Given the description of an element on the screen output the (x, y) to click on. 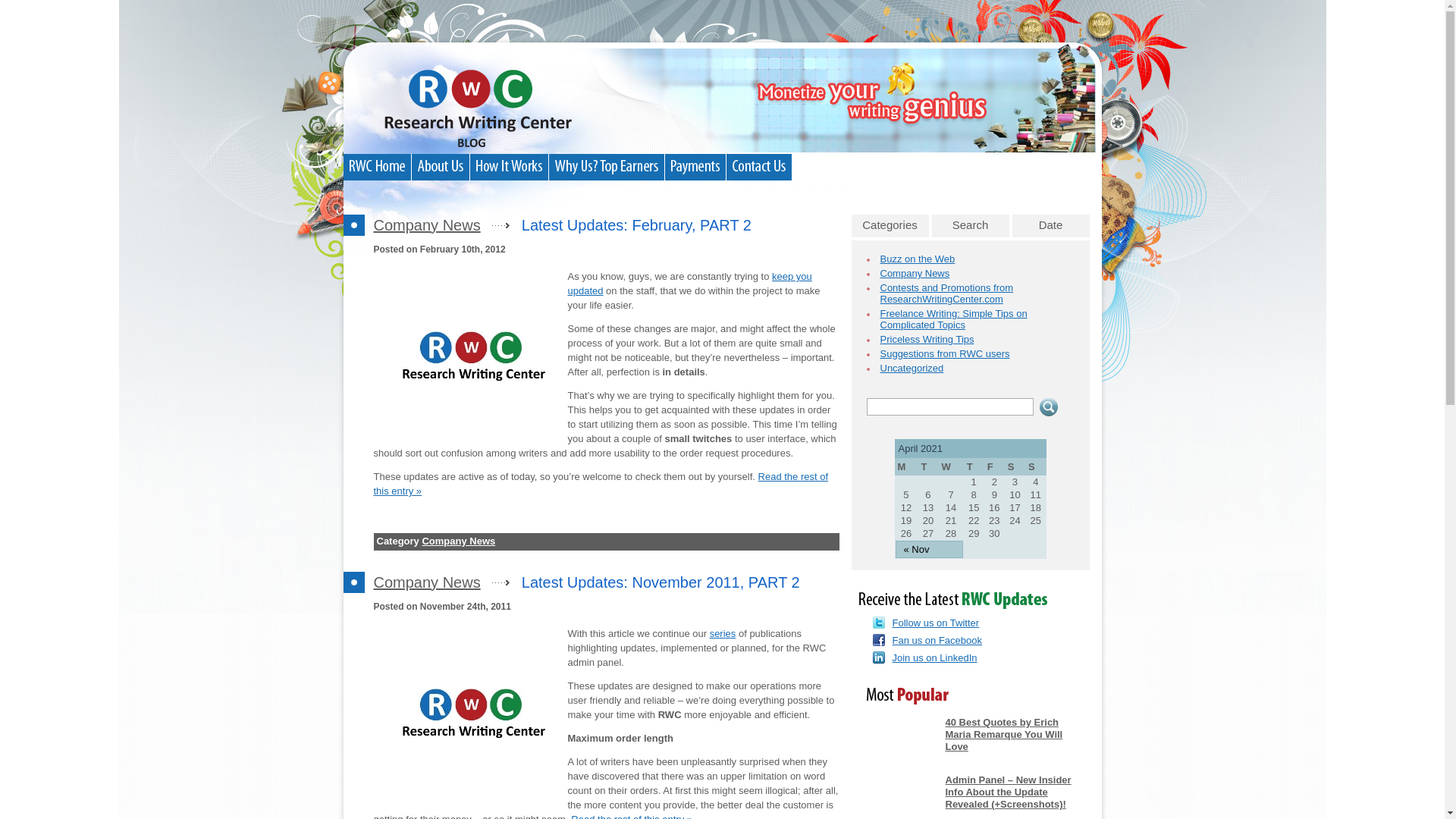
RWC logo  (469, 713)
About Us (439, 165)
Join us on LinkedIn (933, 657)
Latest Updates: February, PART 2 (636, 225)
How It Works (508, 165)
series (723, 633)
40 Best Quotes by Erich Maria Remarque You Will Love (1003, 734)
Search (970, 225)
RWC Home (376, 165)
Uncategorized (911, 367)
